Given the description of an element on the screen output the (x, y) to click on. 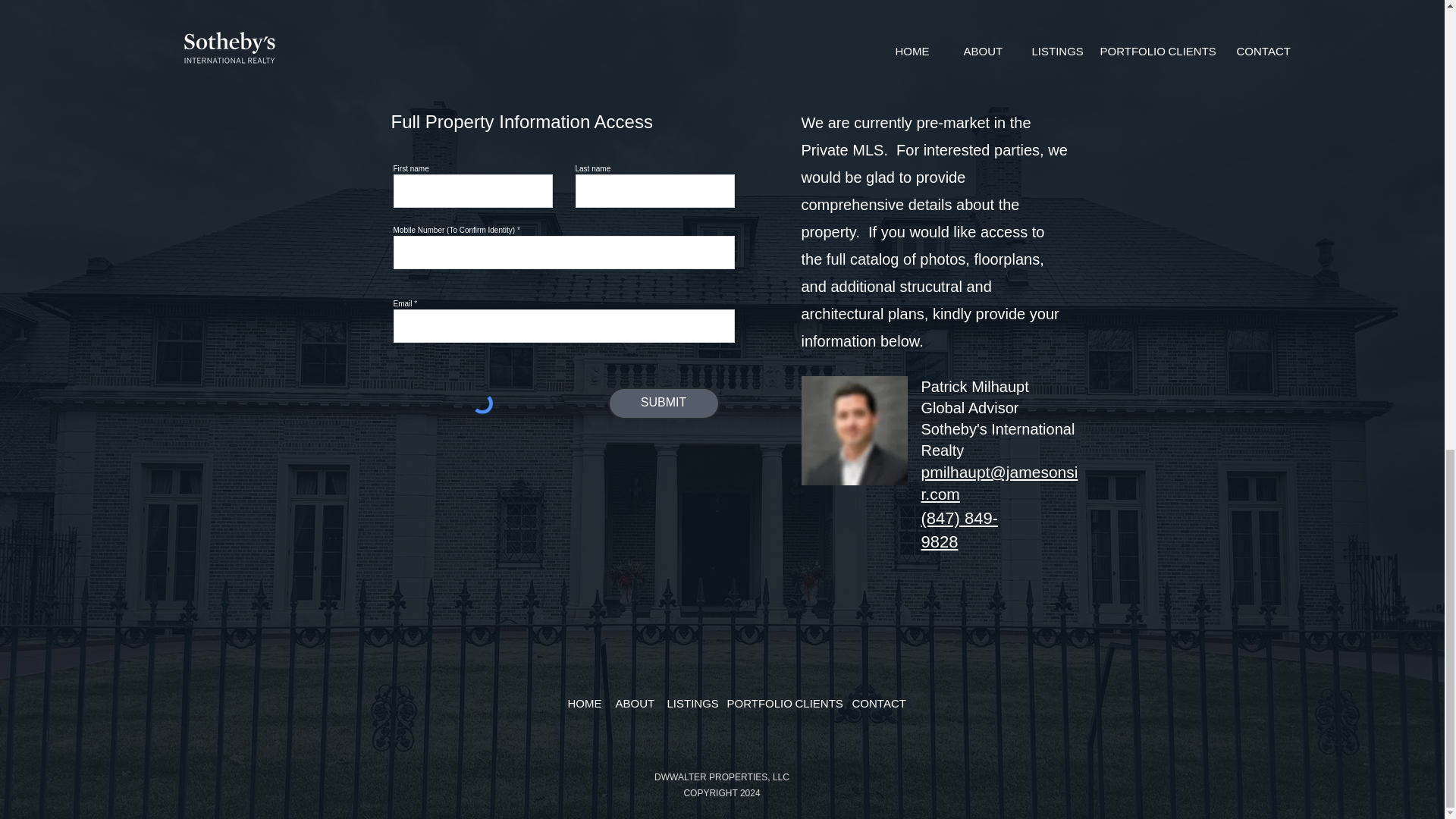
CONTACT (870, 703)
ABOUT (629, 703)
PORTFOLIO (750, 703)
SUBMIT (663, 403)
HOME (580, 703)
